Given the description of an element on the screen output the (x, y) to click on. 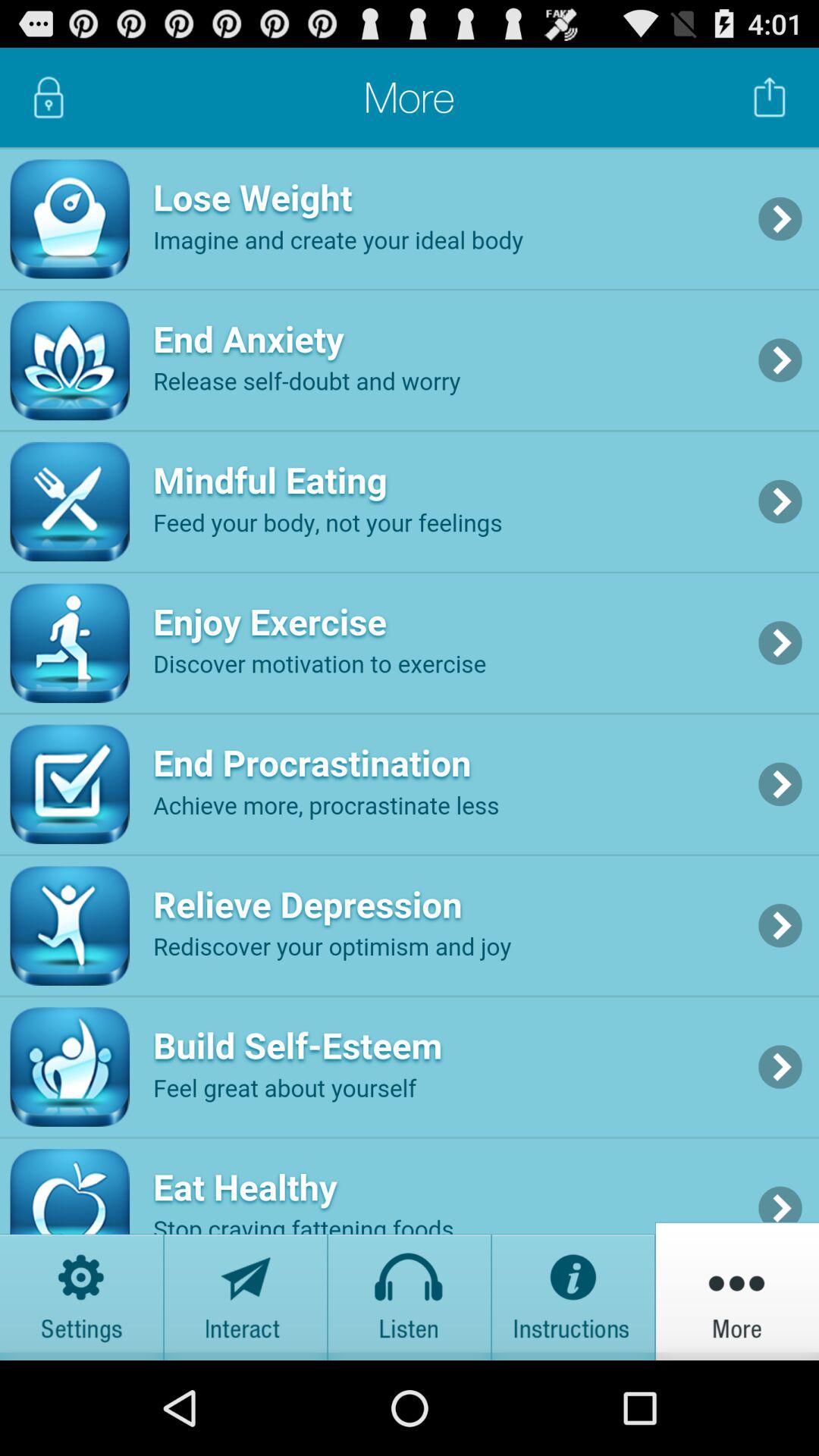
more options (737, 1290)
